Given the description of an element on the screen output the (x, y) to click on. 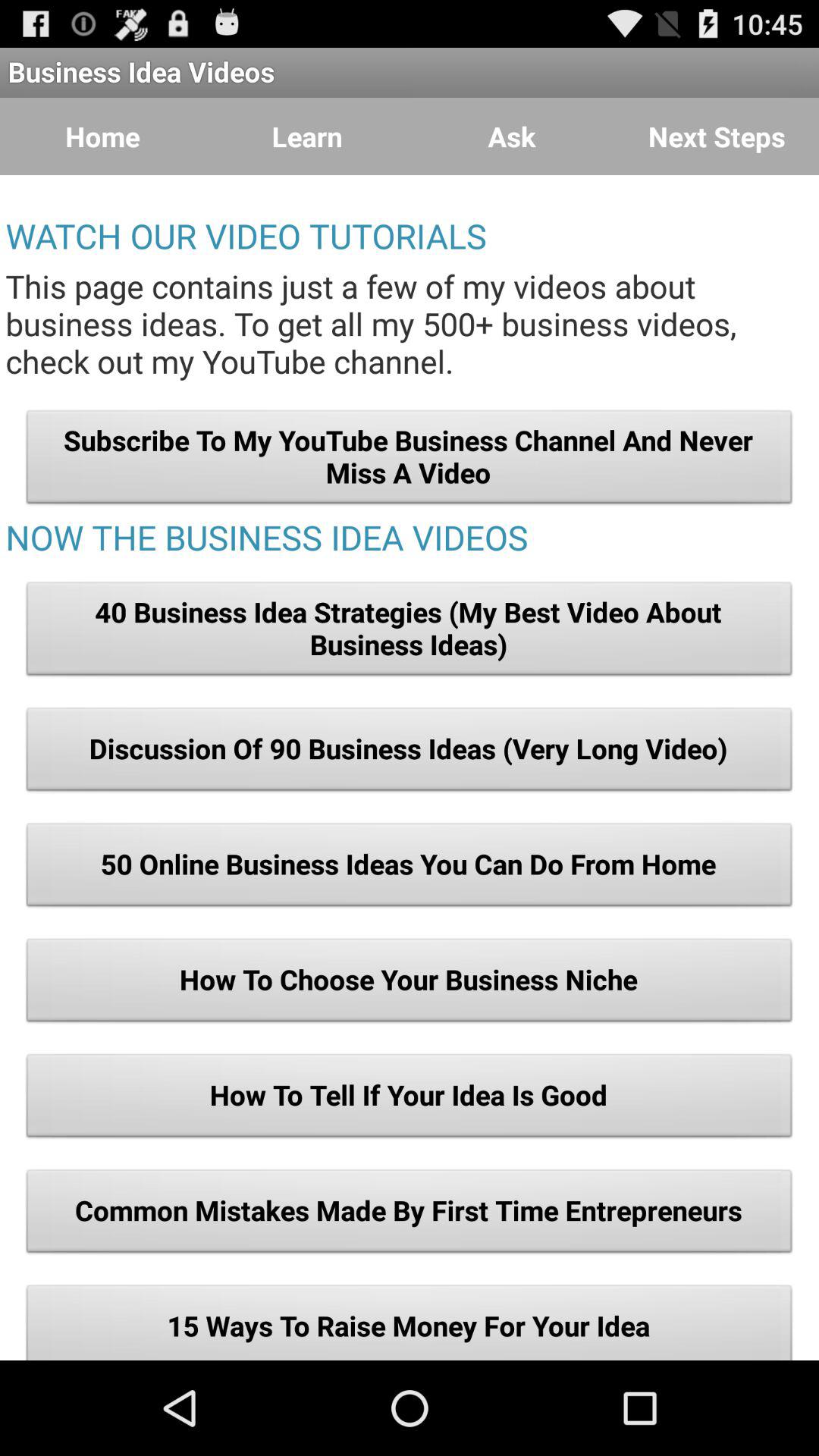
choose icon above the 50 online business icon (409, 753)
